Given the description of an element on the screen output the (x, y) to click on. 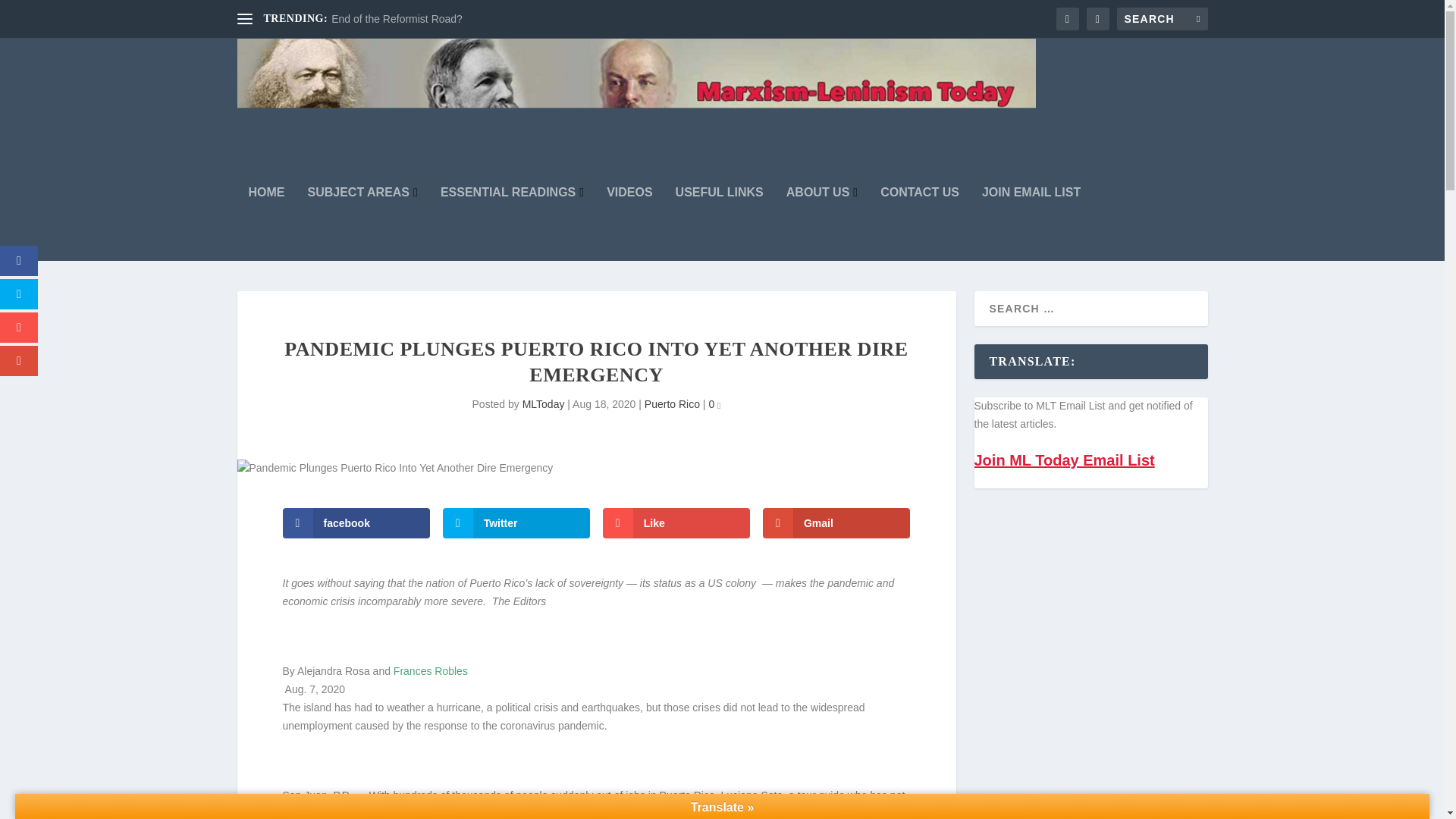
USEFUL LINKS (718, 223)
Posts by MLToday (543, 404)
Search for: (1161, 18)
End of the Reformist Road? (397, 19)
ESSENTIAL READINGS (512, 223)
SUBJECT AREAS (362, 223)
ABOUT US (821, 223)
